Given the description of an element on the screen output the (x, y) to click on. 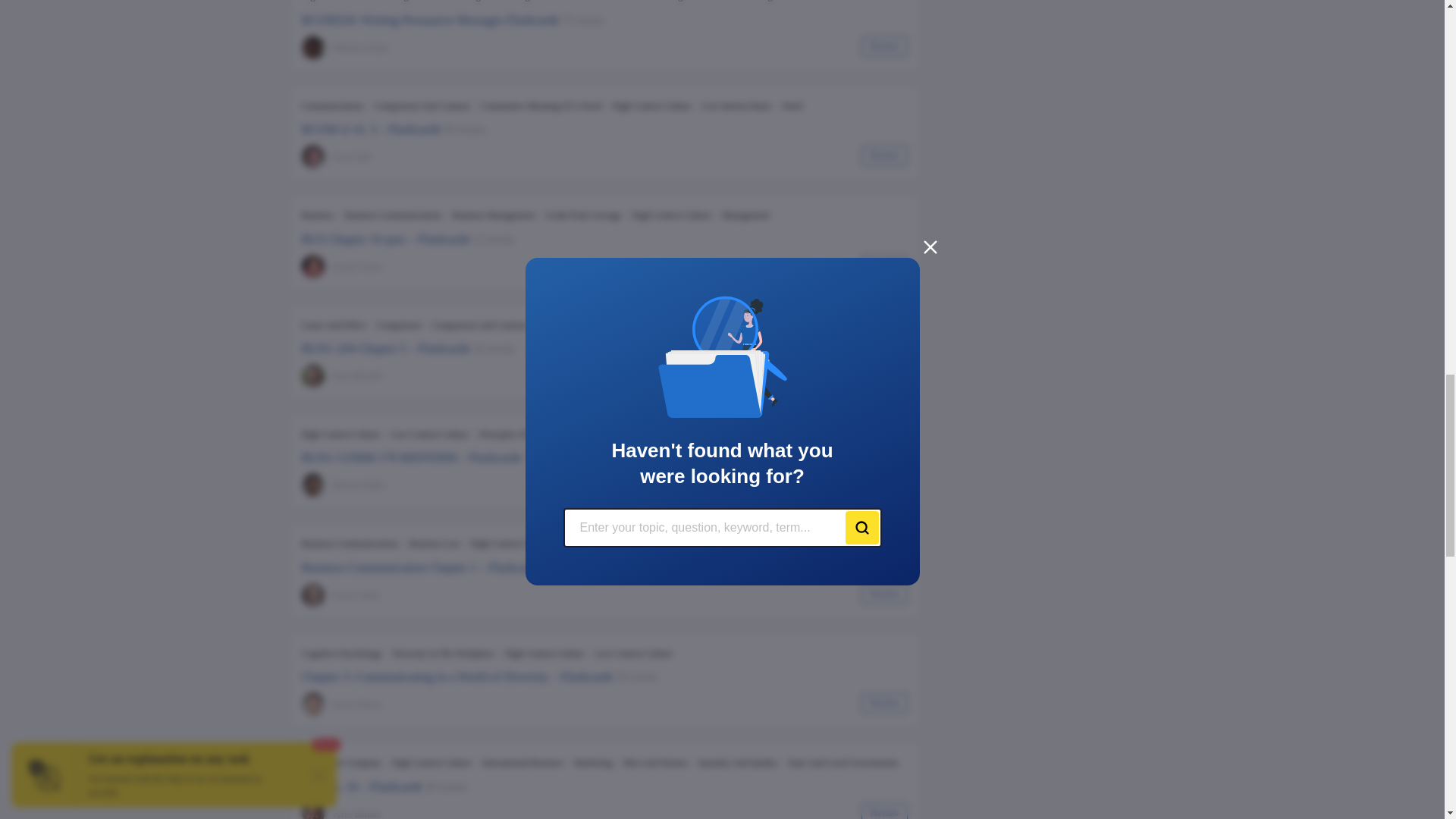
BCOM320: Writing Persuasive Messages Flashcards 75 terms (604, 20)
